Given the description of an element on the screen output the (x, y) to click on. 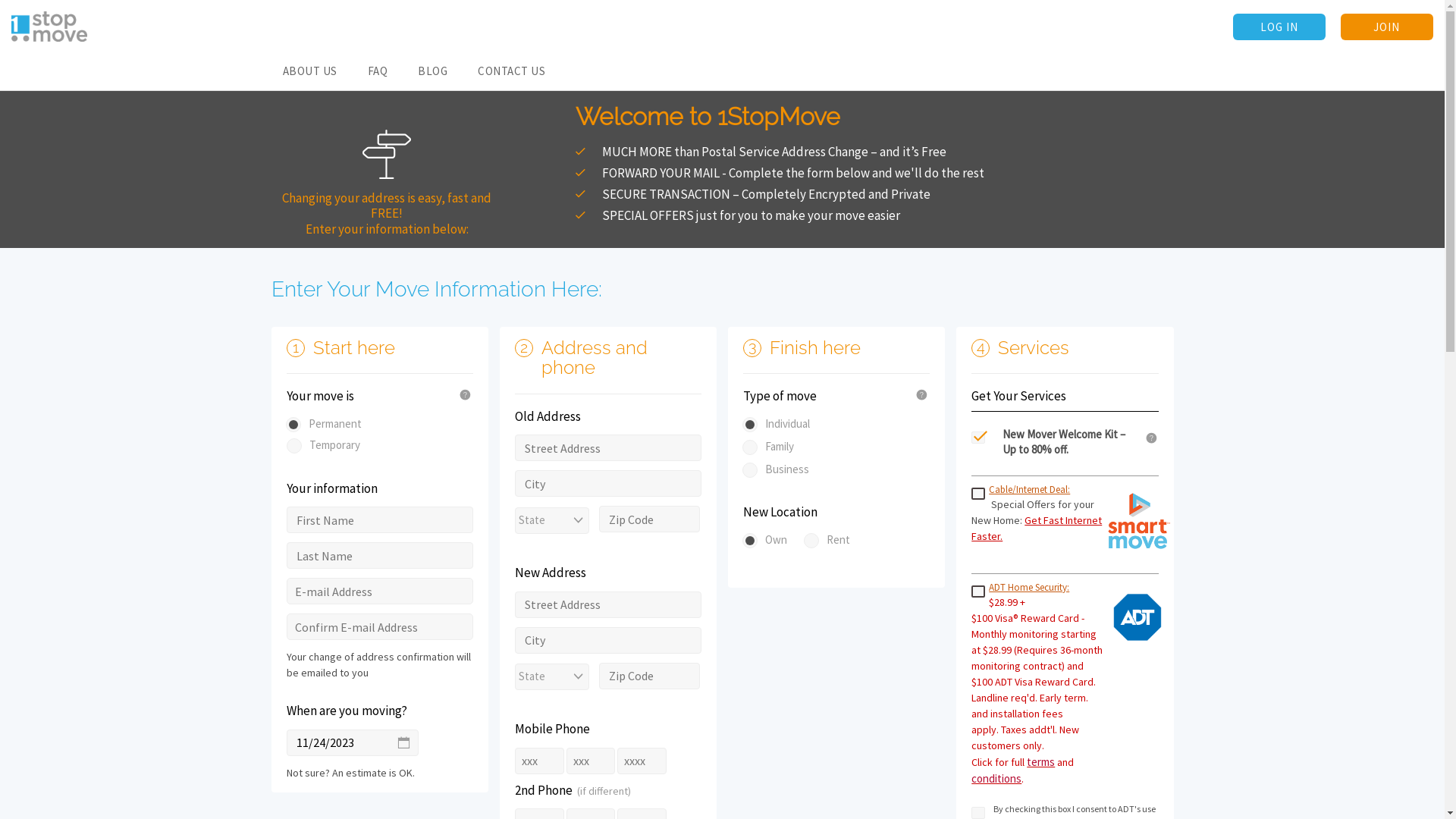
Individual Element type: text (748, 422)
FAQ Element type: text (377, 71)
CONTACT US Element type: text (511, 71)
JOIN Element type: text (1386, 26)
Temporary Element type: text (384, 422)
LOG IN Element type: text (1279, 26)
Family Element type: text (748, 445)
Permanent Element type: text (291, 422)
Business Element type: text (748, 468)
terms Element type: text (1040, 761)
Show Offers Element type: text (114, 14)
ABOUT US Element type: text (309, 71)
conditions Element type: text (996, 778)
BLOG Element type: text (432, 71)
